Given the description of an element on the screen output the (x, y) to click on. 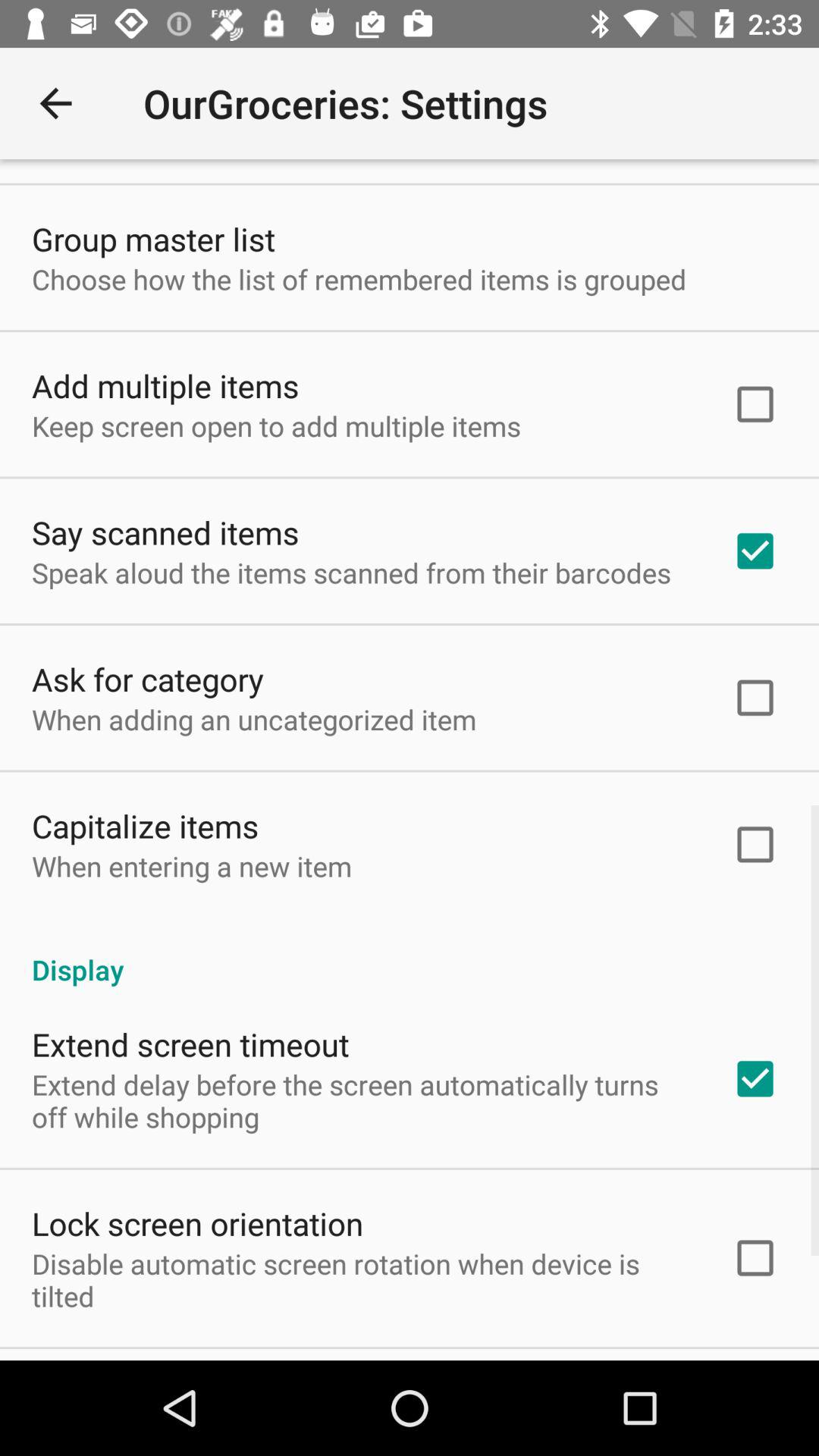
select icon below when adding an (144, 825)
